Given the description of an element on the screen output the (x, y) to click on. 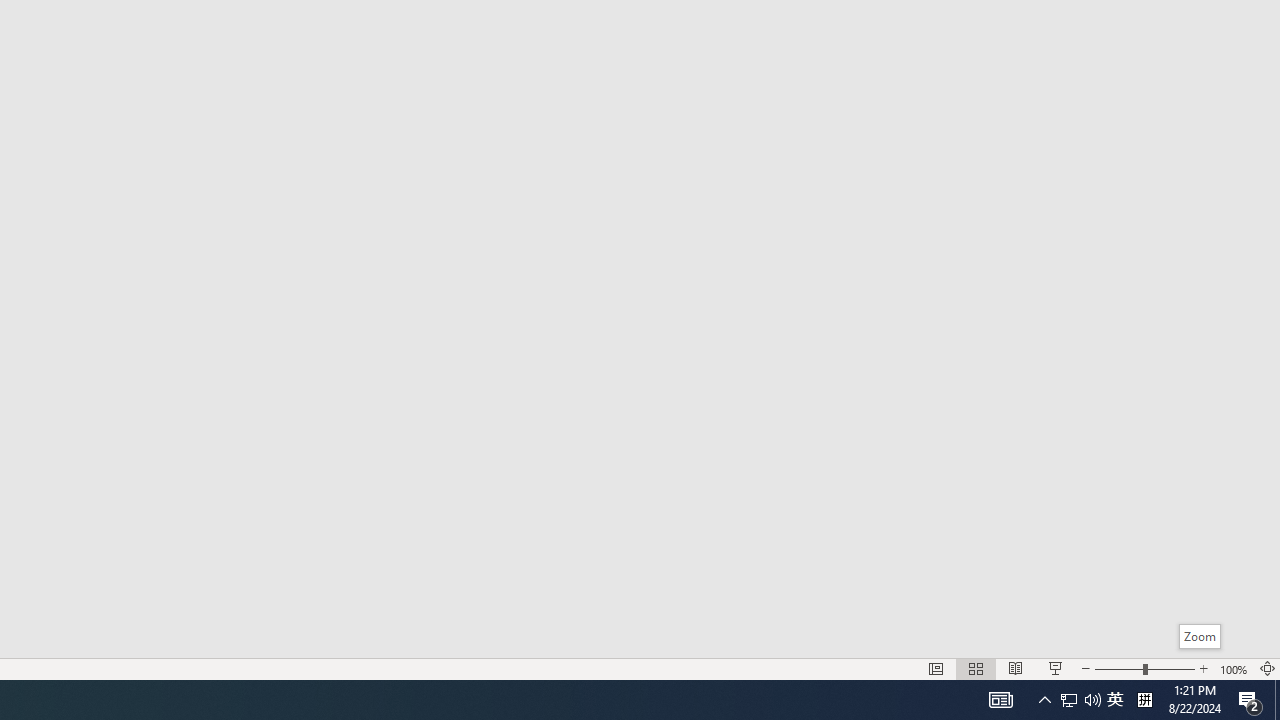
Zoom 100% (1234, 668)
